Given the description of an element on the screen output the (x, y) to click on. 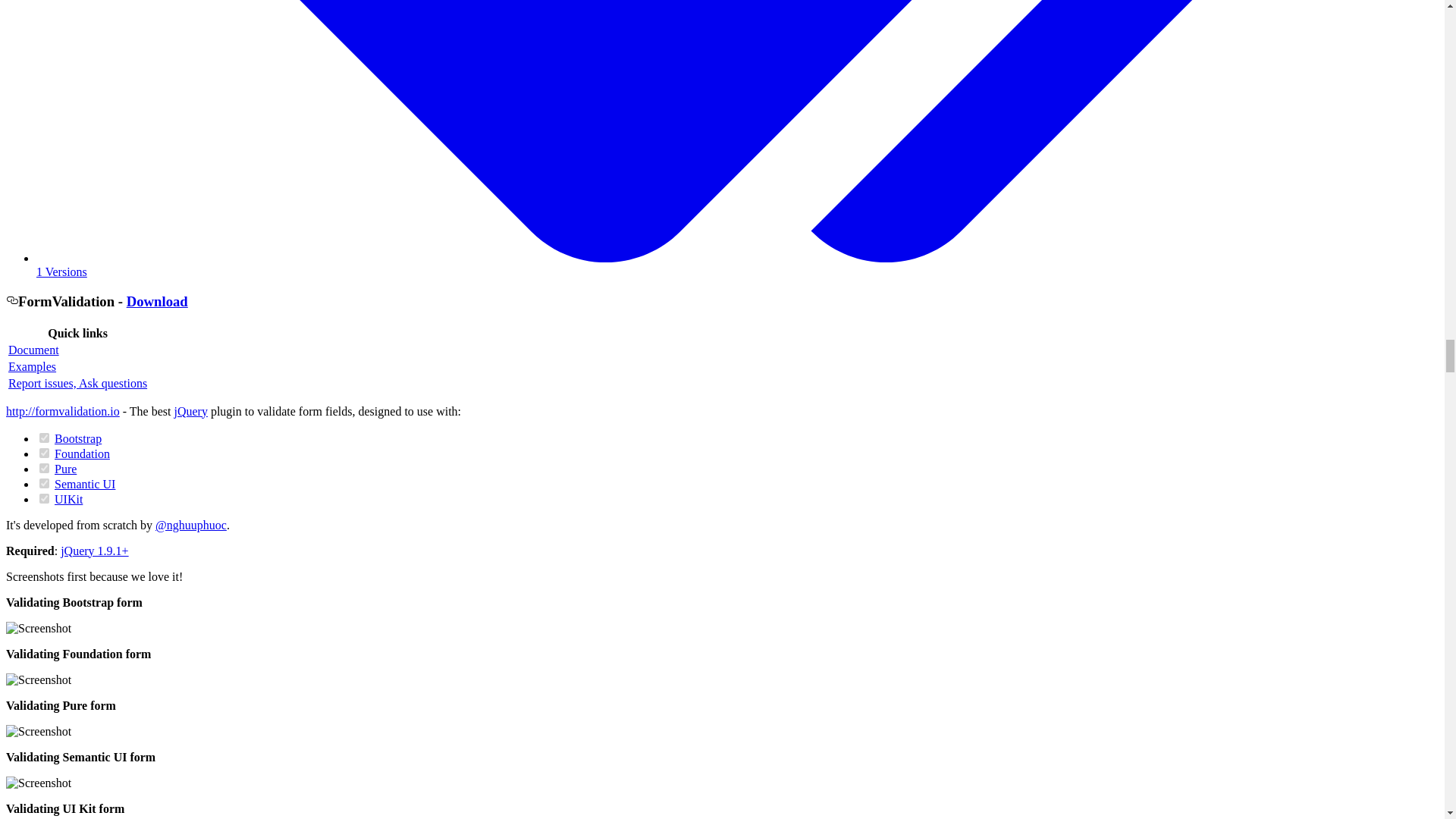
on (44, 498)
Pure (66, 468)
on (44, 483)
Document (33, 349)
Examples (32, 366)
Report issues, Ask questions (77, 382)
on (44, 452)
Bootstrap (78, 438)
on (44, 438)
Download (156, 301)
UIKit (68, 499)
on (44, 468)
Semantic UI (85, 483)
Foundation (82, 453)
jQuery (189, 410)
